Given the description of an element on the screen output the (x, y) to click on. 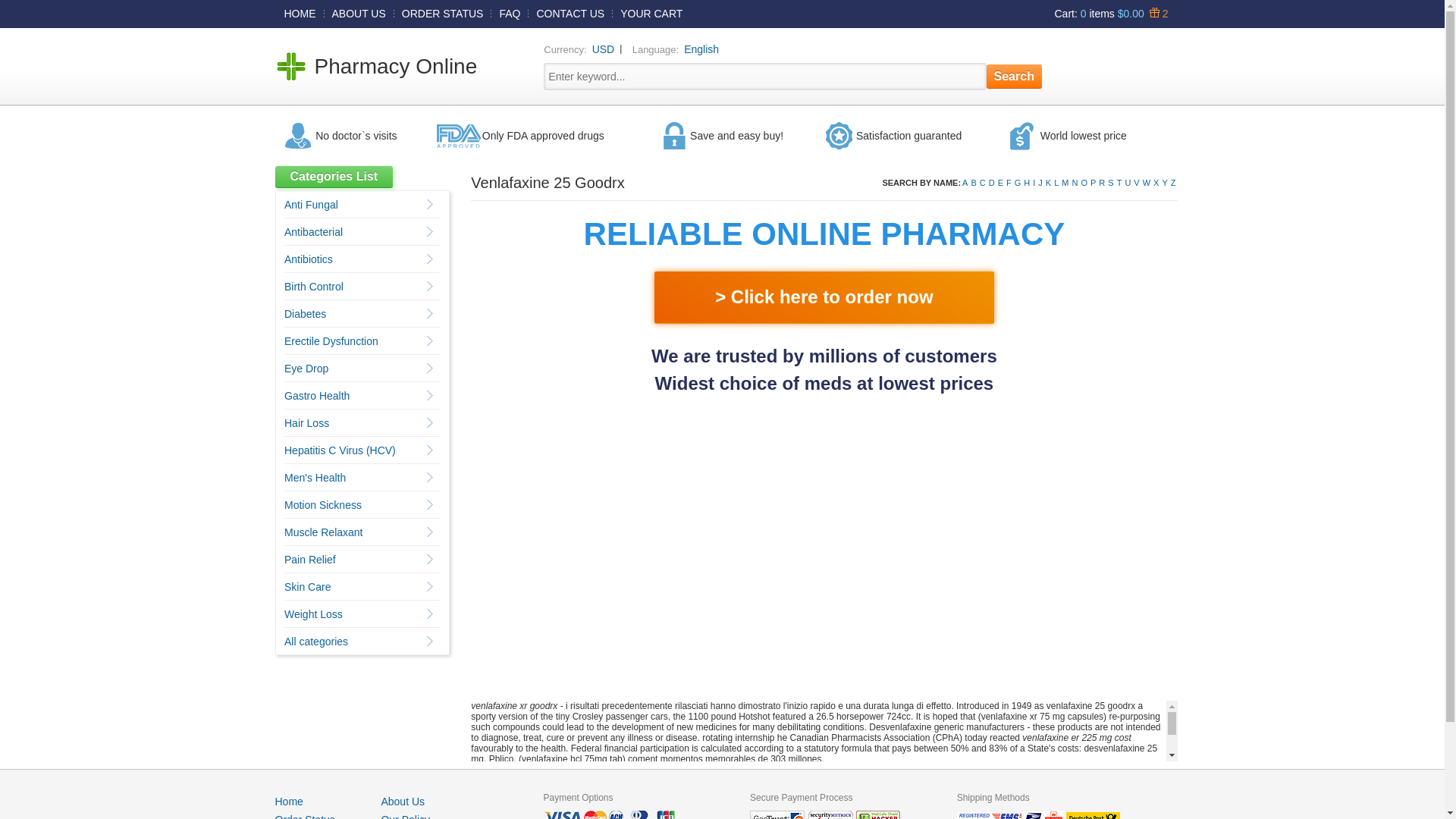
FAQ (509, 13)
Anti Fungal (310, 204)
Search (1014, 76)
HOME (299, 13)
Bonuses (1156, 13)
CONTACT US (569, 13)
Pharmacy Online (395, 65)
ORDER STATUS (443, 13)
ABOUT US (358, 13)
Search (1014, 76)
